Given the description of an element on the screen output the (x, y) to click on. 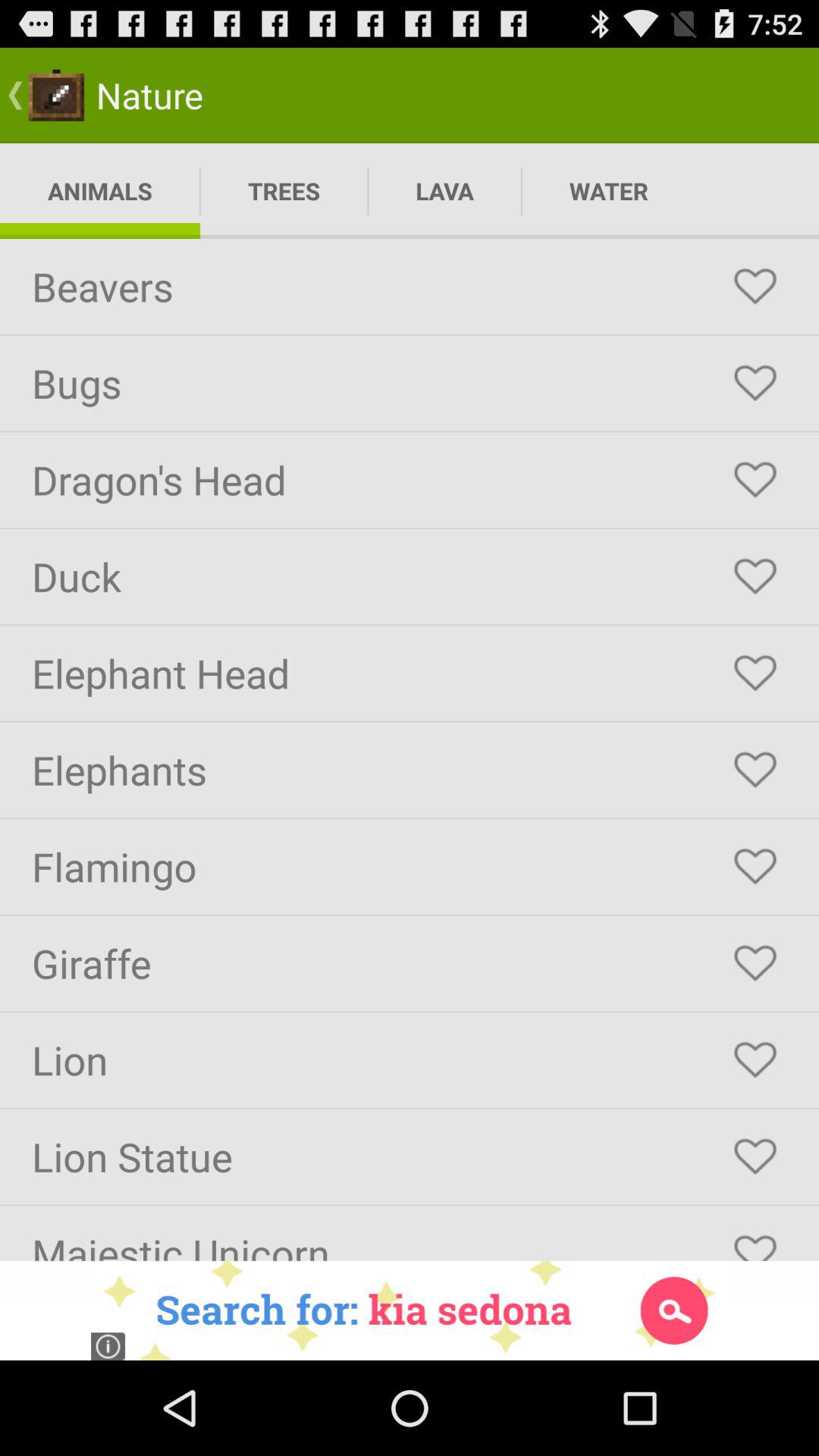
add favorite (755, 963)
